Given the description of an element on the screen output the (x, y) to click on. 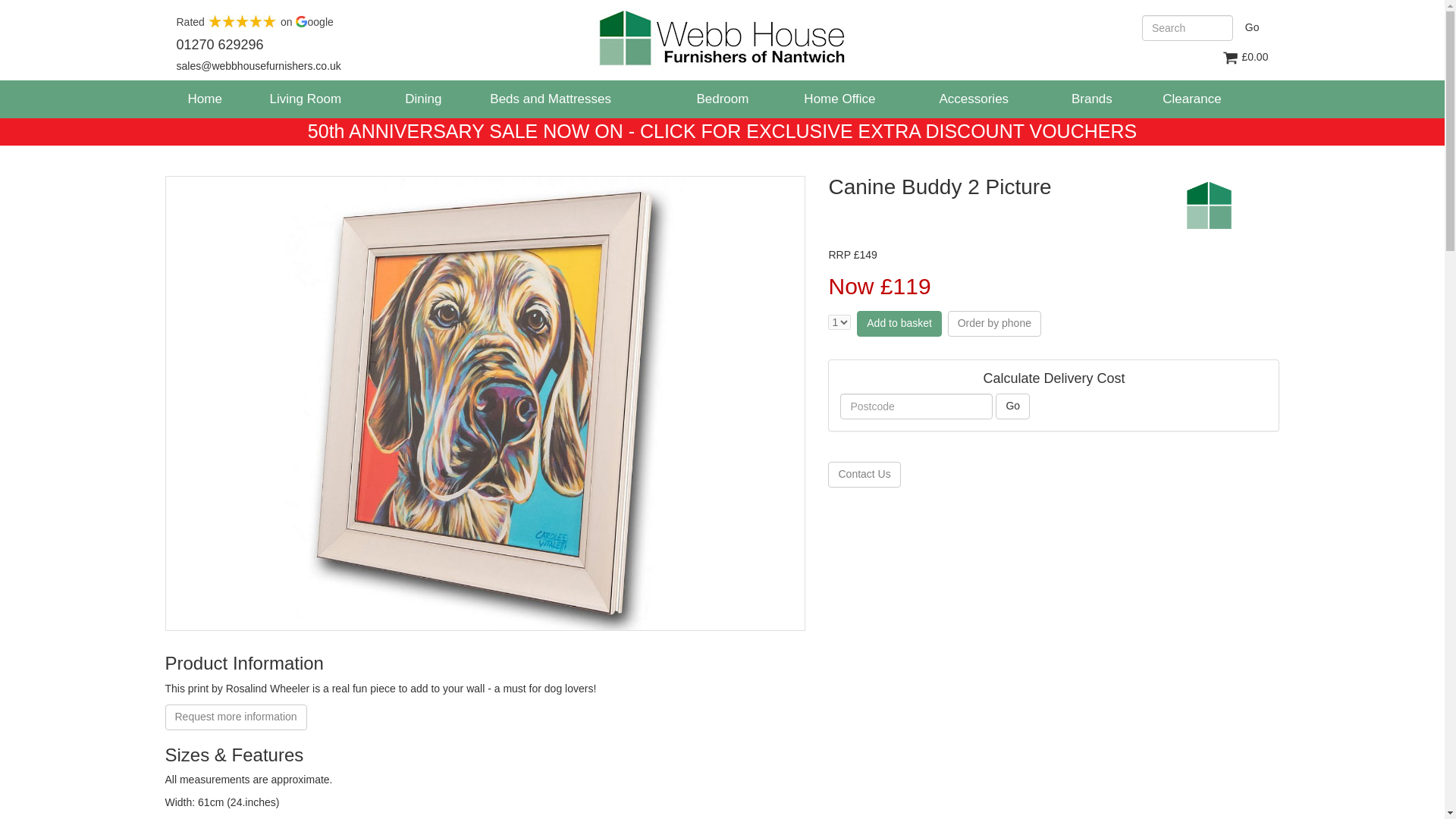
Go (1252, 27)
Living Room (306, 98)
Return to home page (721, 37)
Rated on oogle (254, 21)
Click to read our reviews on Google. (254, 21)
